Given the description of an element on the screen output the (x, y) to click on. 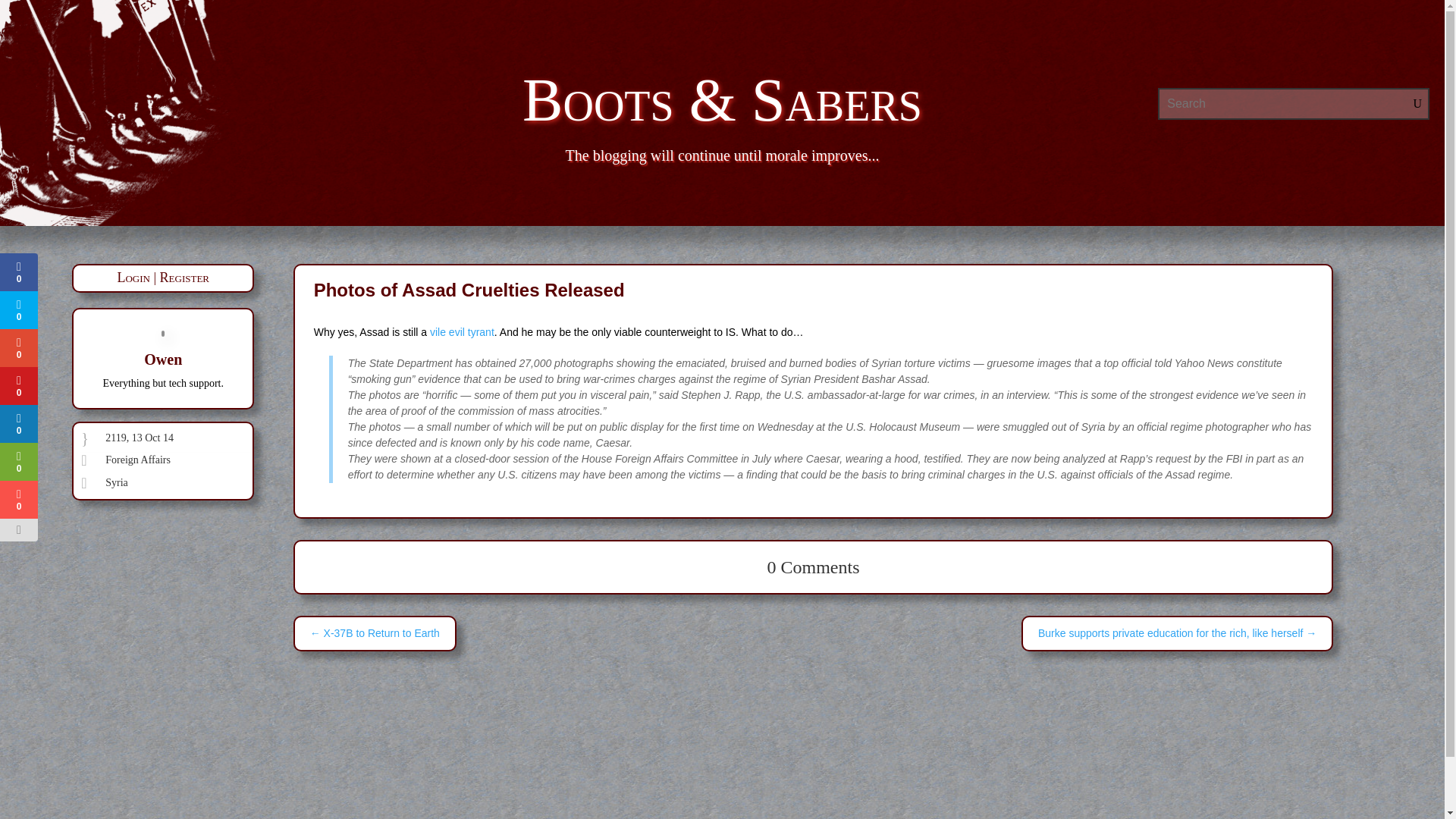
Register (184, 277)
Syria (116, 482)
0 (17, 499)
Foreign Affairs (137, 460)
vile evil tyrant (462, 331)
Login (132, 277)
0 (17, 461)
aggie-boots-96-clear (150, 113)
